Given the description of an element on the screen output the (x, y) to click on. 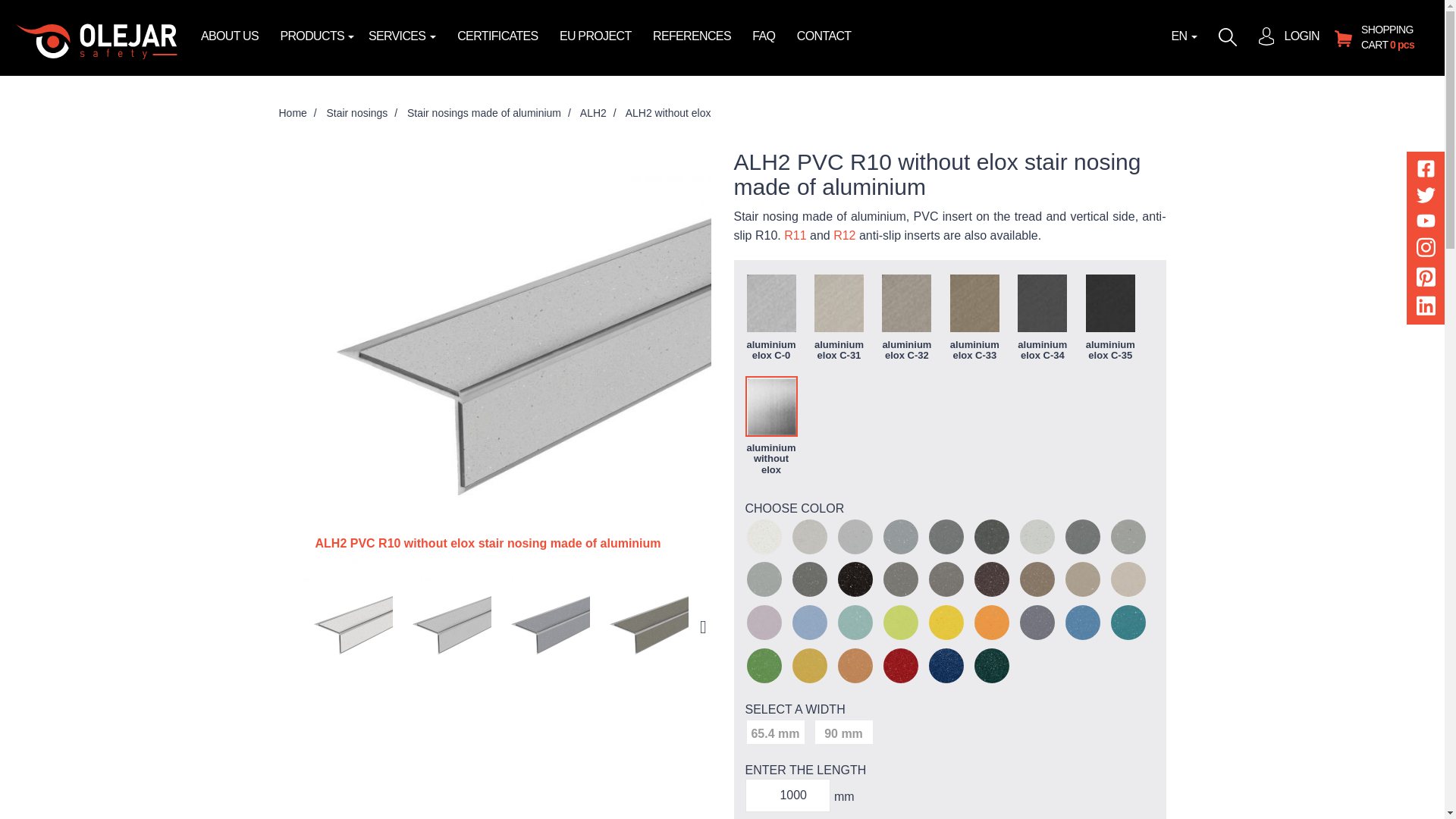
Stair nosings made of aluminium (483, 111)
ALH2 without elox (668, 111)
ALH2 PVC R10 without elox stair nosing made of aluminium (544, 626)
Home (293, 111)
ALH2 PVC R10 without elox stair nosing made of aluminium (642, 626)
Stair nosings (356, 111)
1000 (786, 795)
ALH2 PVC R10 without elox stair nosing made of aluminium (446, 626)
ALH2 PVC R10 without elox stair nosing made of aluminium (347, 626)
R11 (795, 235)
ALH2 (593, 111)
